Given the description of an element on the screen output the (x, y) to click on. 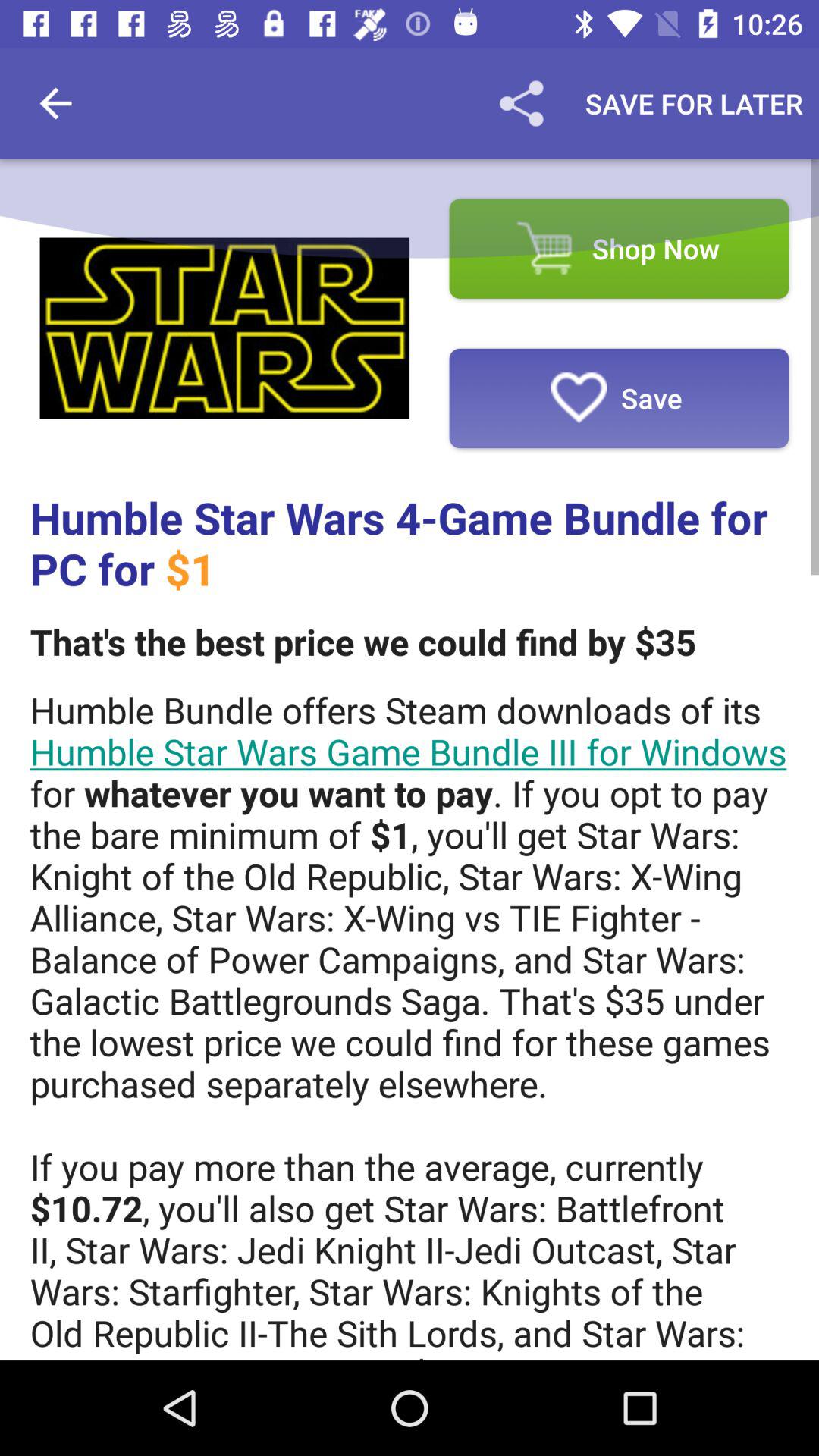
turn off the icon above the humble bundle offers (363, 641)
